Given the description of an element on the screen output the (x, y) to click on. 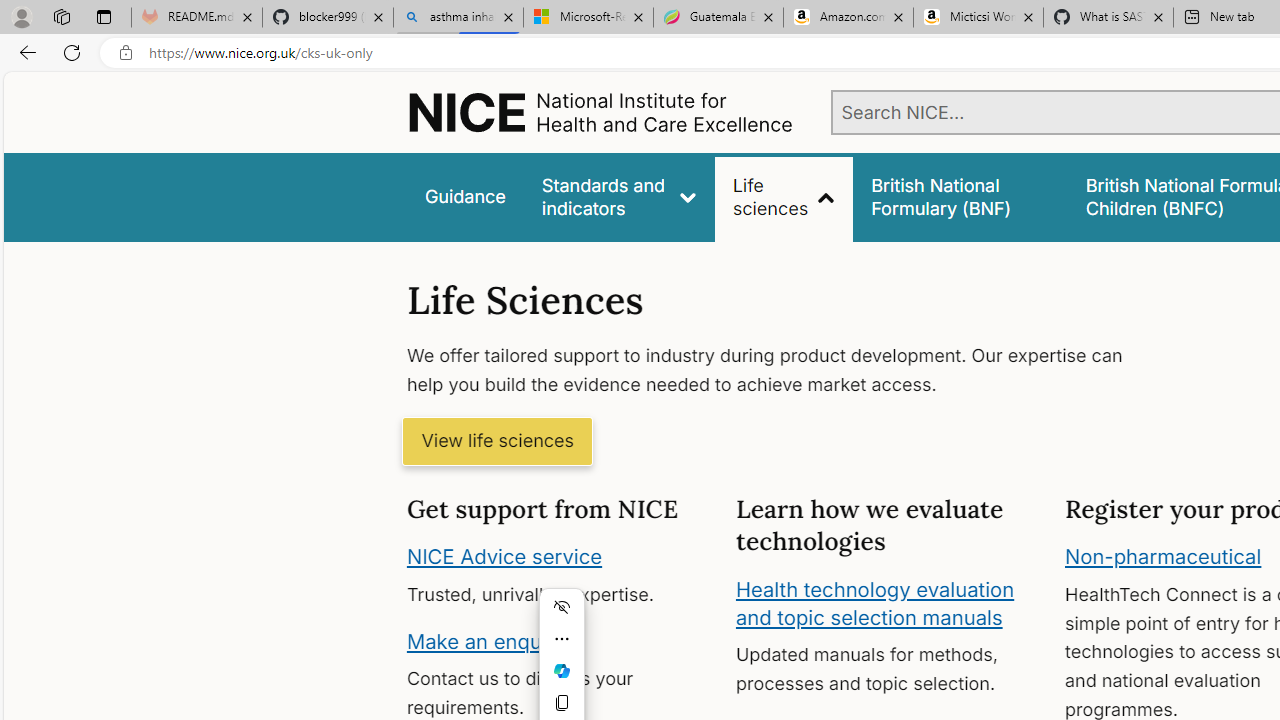
View life sciences (497, 441)
Ask Copilot (561, 670)
asthma inhaler - Search (458, 17)
false (959, 196)
Health technology evaluation and topic selection manuals (874, 603)
Guidance (464, 196)
